Given the description of an element on the screen output the (x, y) to click on. 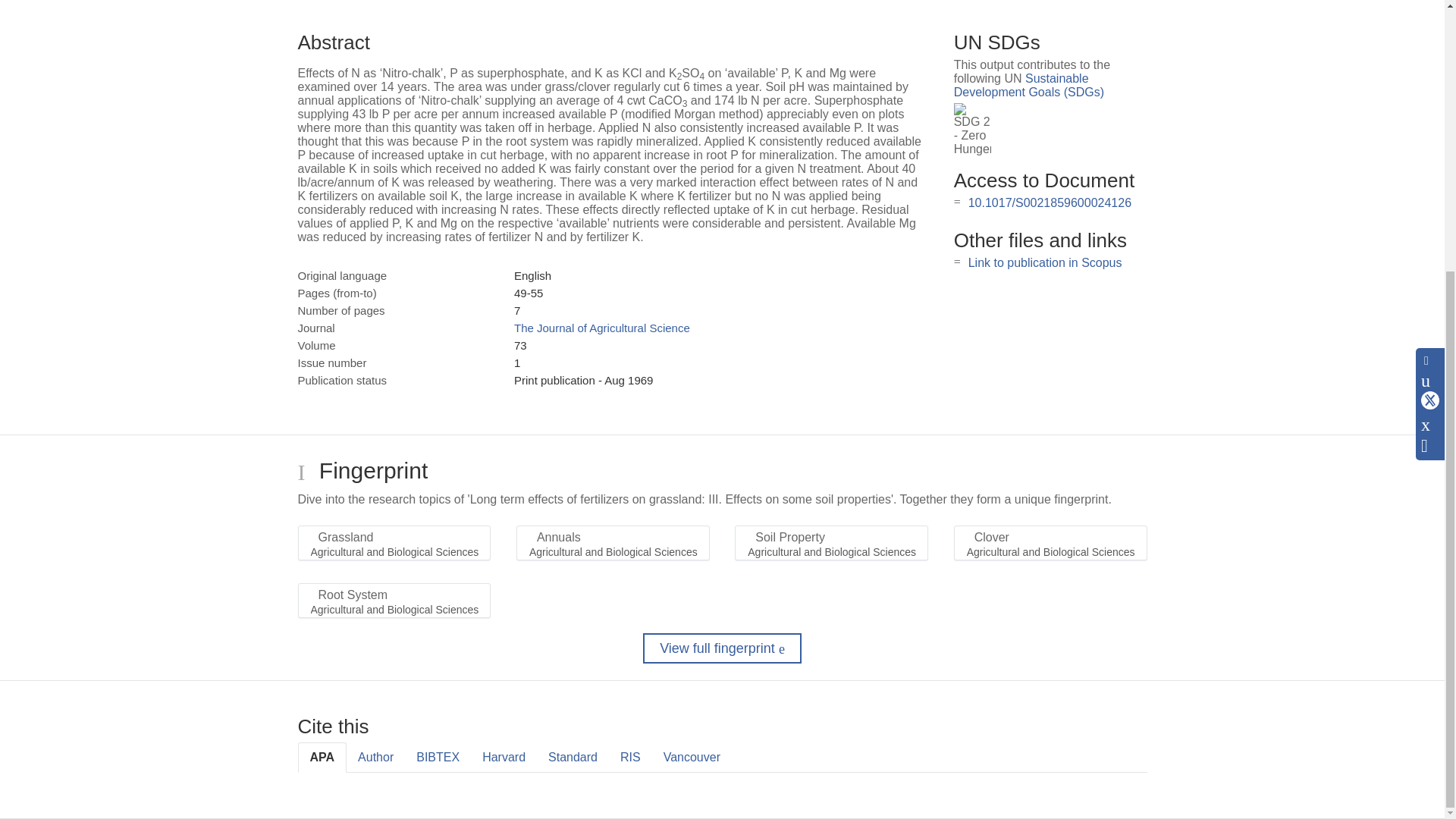
View full fingerprint (722, 648)
Link to publication in Scopus (1045, 262)
The Journal of Agricultural Science (601, 327)
